Given the description of an element on the screen output the (x, y) to click on. 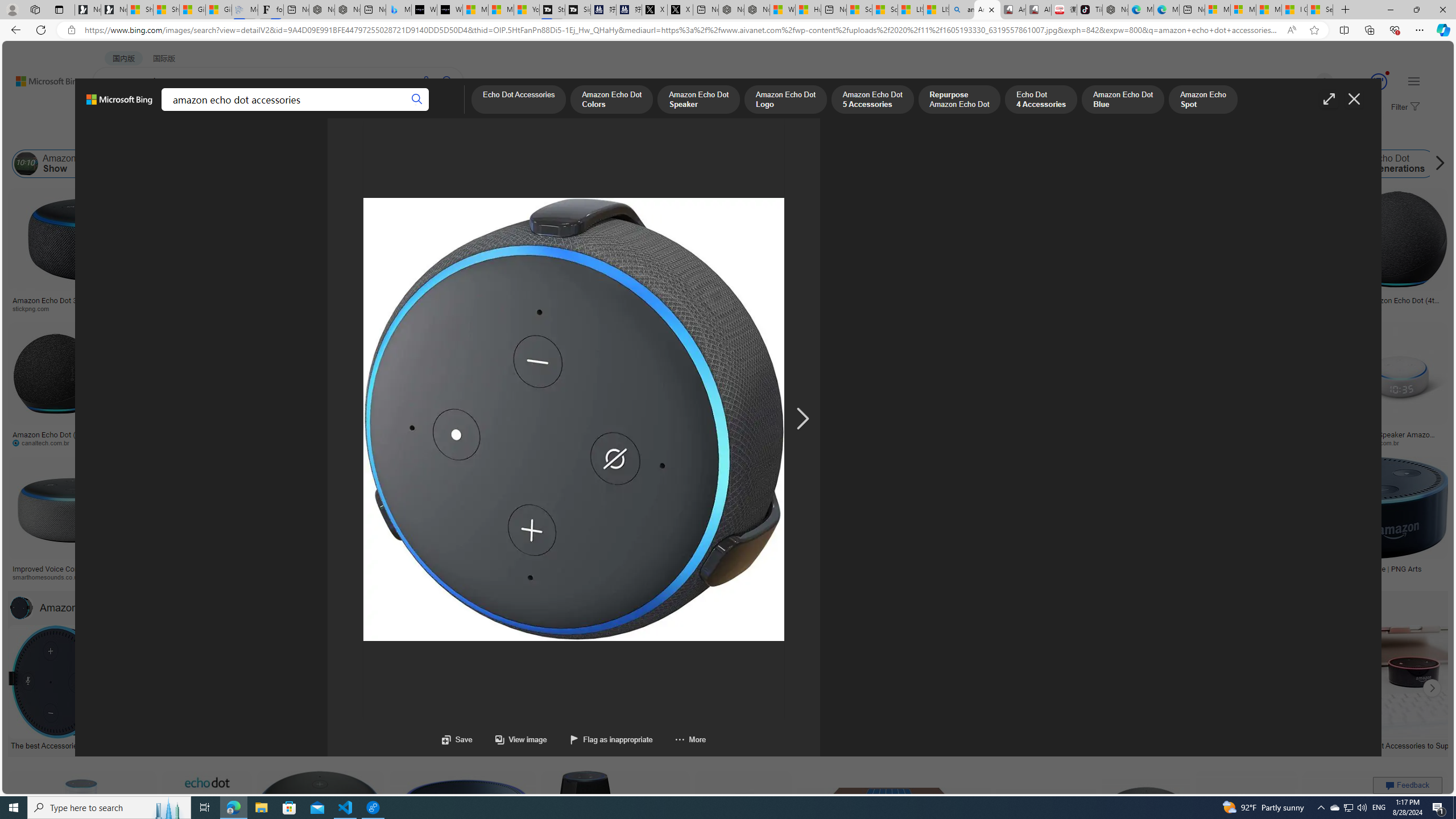
View image (521, 739)
Image size (126, 135)
Echo Dot 4 Accessories (1040, 100)
amazon.com.mx (1003, 442)
Alexa Echo Png Pic Png Arts Images (923, 299)
Echo Dot Accessories (226, 163)
Amazon Echo Dot With Clock Review | Security.org (230, 568)
tpsearchtool.com (1257, 308)
